Given the description of an element on the screen output the (x, y) to click on. 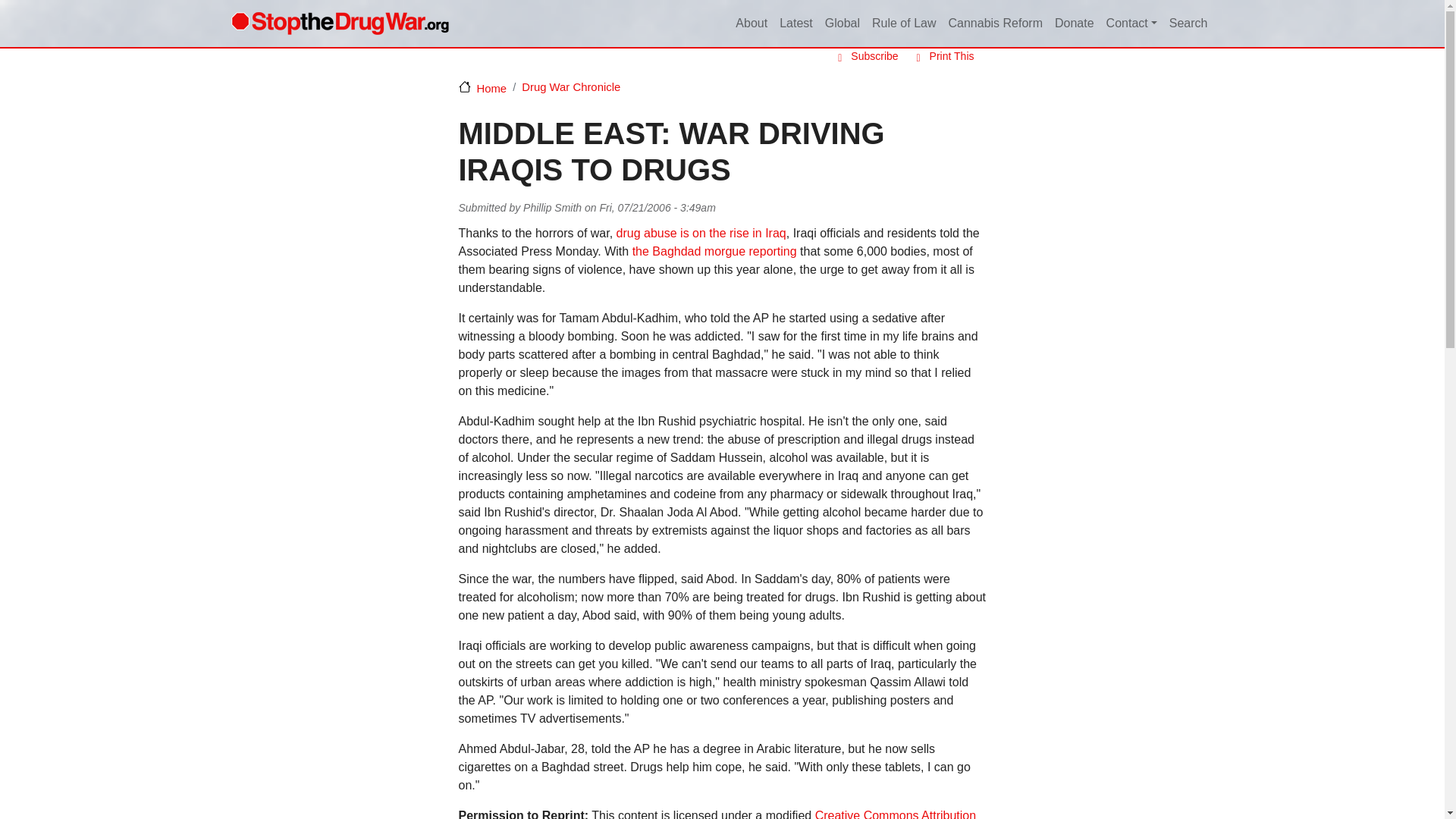
Cannabis Reform (995, 23)
Friday, July 21, 2006 - 3:49am (656, 207)
Contact (1131, 23)
About (751, 23)
Global (842, 23)
Home (339, 23)
Share to Email (953, 207)
Share to Facebook (890, 207)
Share to Linkedin (911, 207)
Rule of Law (904, 23)
Subscribe (864, 55)
Please Support Our Work (1074, 23)
Donate (1074, 23)
Search (1188, 23)
Latest (795, 23)
